Given the description of an element on the screen output the (x, y) to click on. 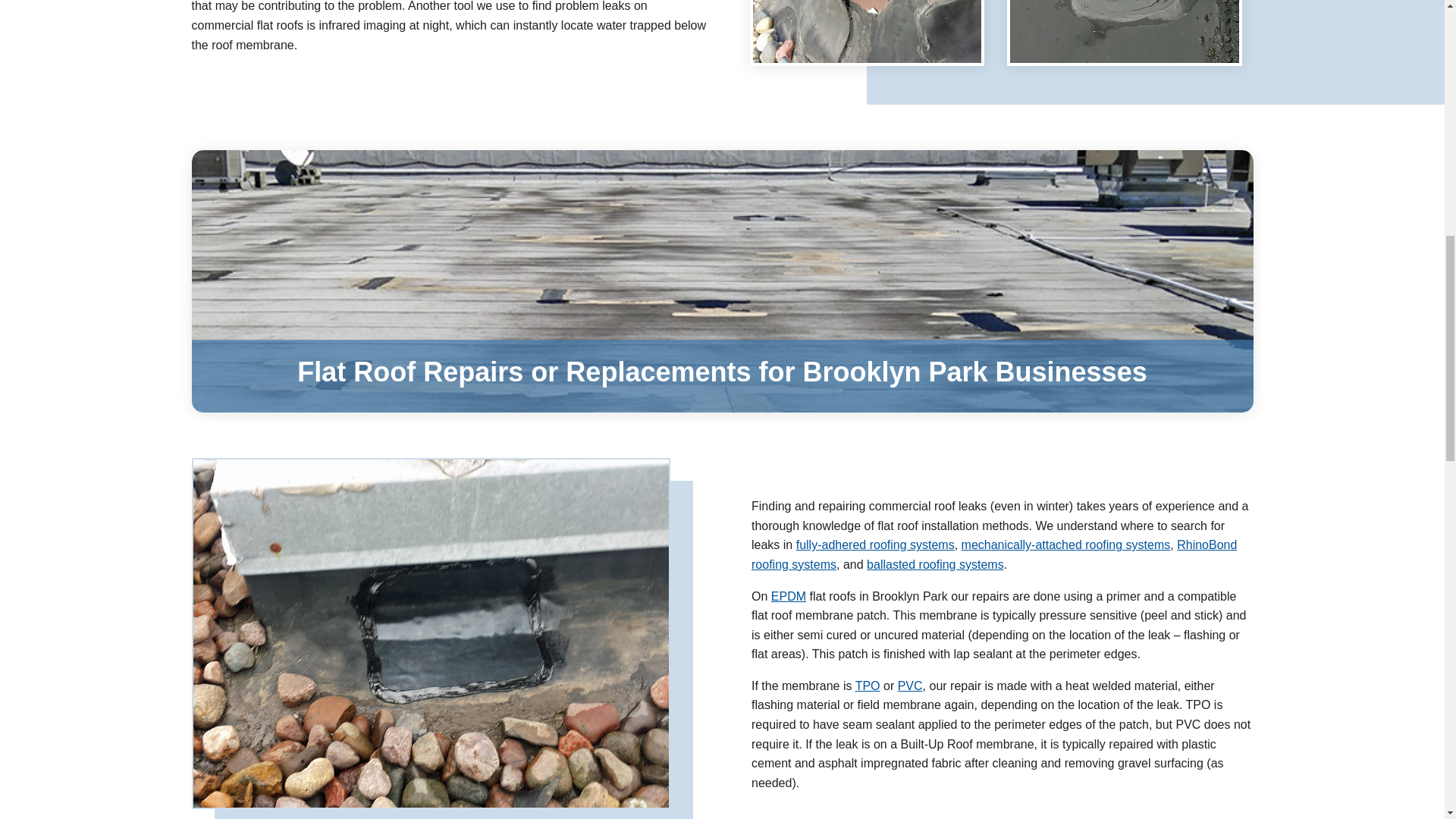
leak-detection (1124, 31)
mechanically-attached roofing systems (1065, 544)
fully-adhered roofing systems (875, 544)
roof-inspection (866, 31)
